Given the description of an element on the screen output the (x, y) to click on. 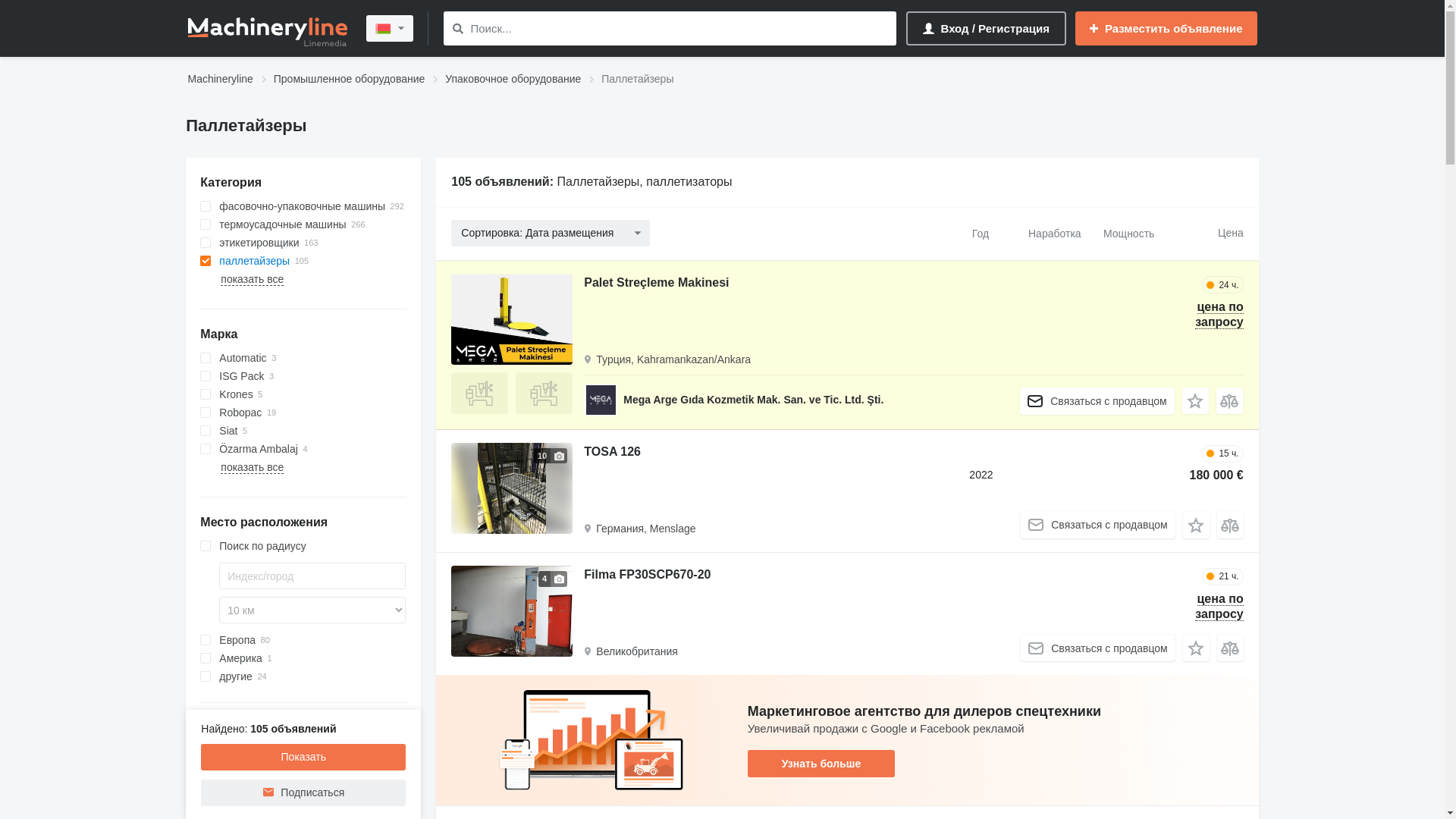
Machineryline Element type: text (220, 79)
Robopac Element type: text (303, 412)
TOSA 126 Element type: text (611, 453)
Filma FP30SCP670-20 Element type: text (646, 576)
